Given the description of an element on the screen output the (x, y) to click on. 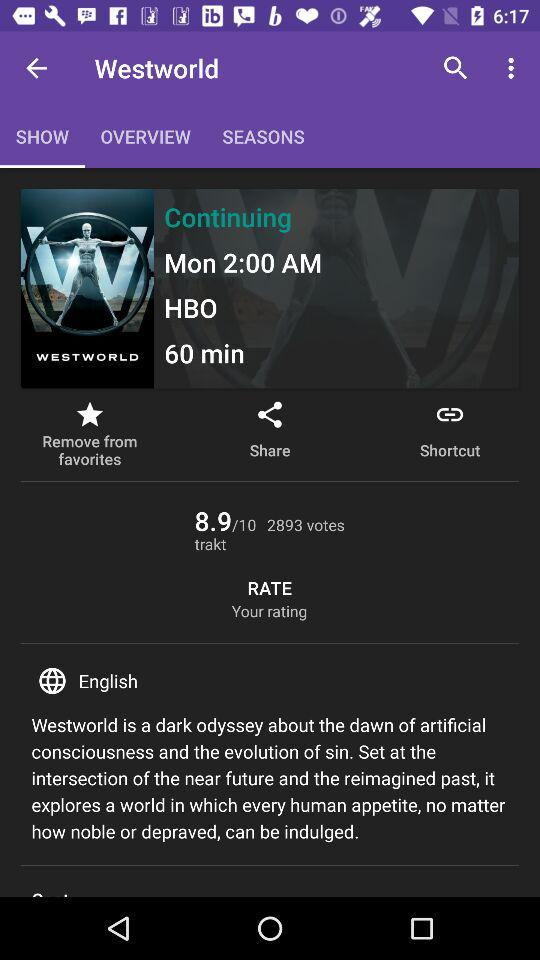
flip to shortcut item (450, 434)
